Given the description of an element on the screen output the (x, y) to click on. 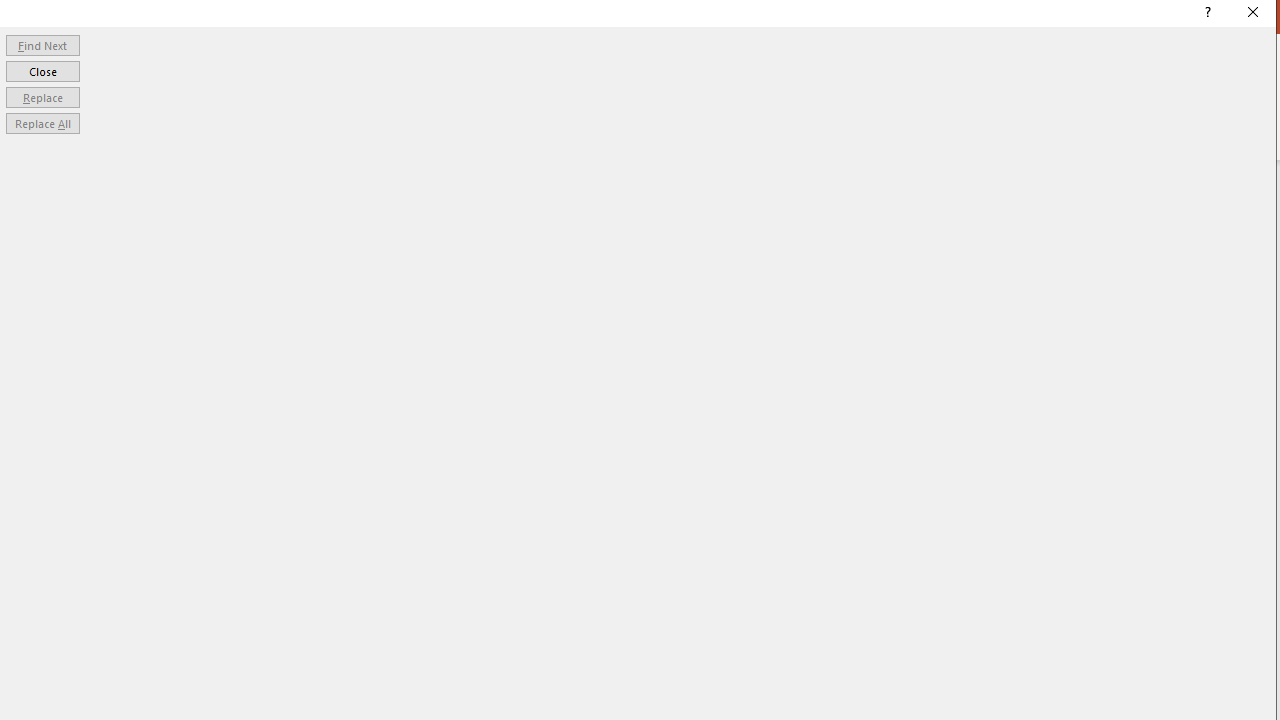
Replace All (42, 123)
Find Next (42, 44)
Replace (42, 96)
